Given the description of an element on the screen output the (x, y) to click on. 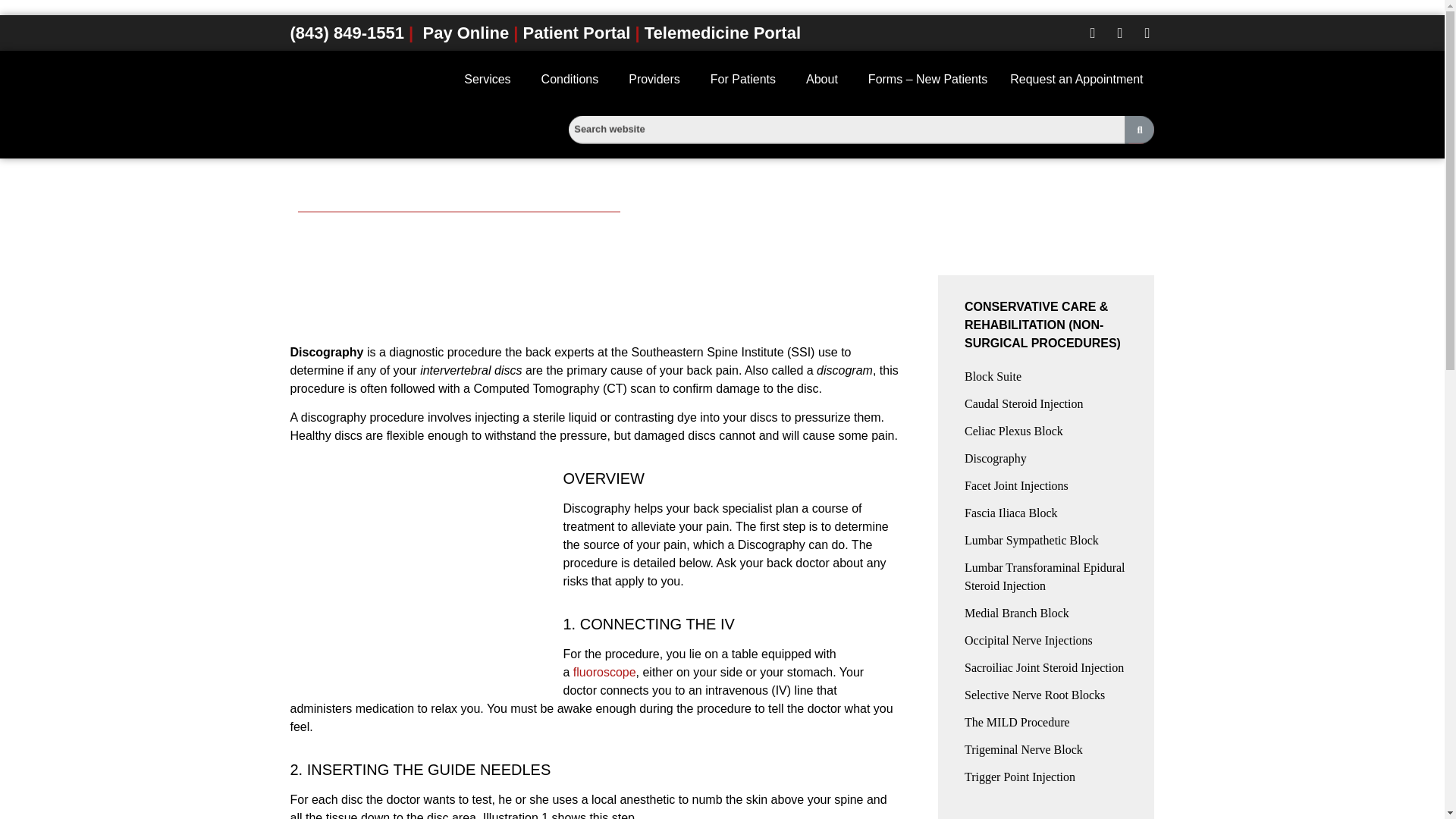
Telemedicine Portal (722, 32)
Pay Online (465, 32)
Conditions (573, 79)
Search (916, 133)
Services (490, 79)
Providers (657, 79)
Request an appointment (1076, 79)
Patient Portal (576, 32)
